Given the description of an element on the screen output the (x, y) to click on. 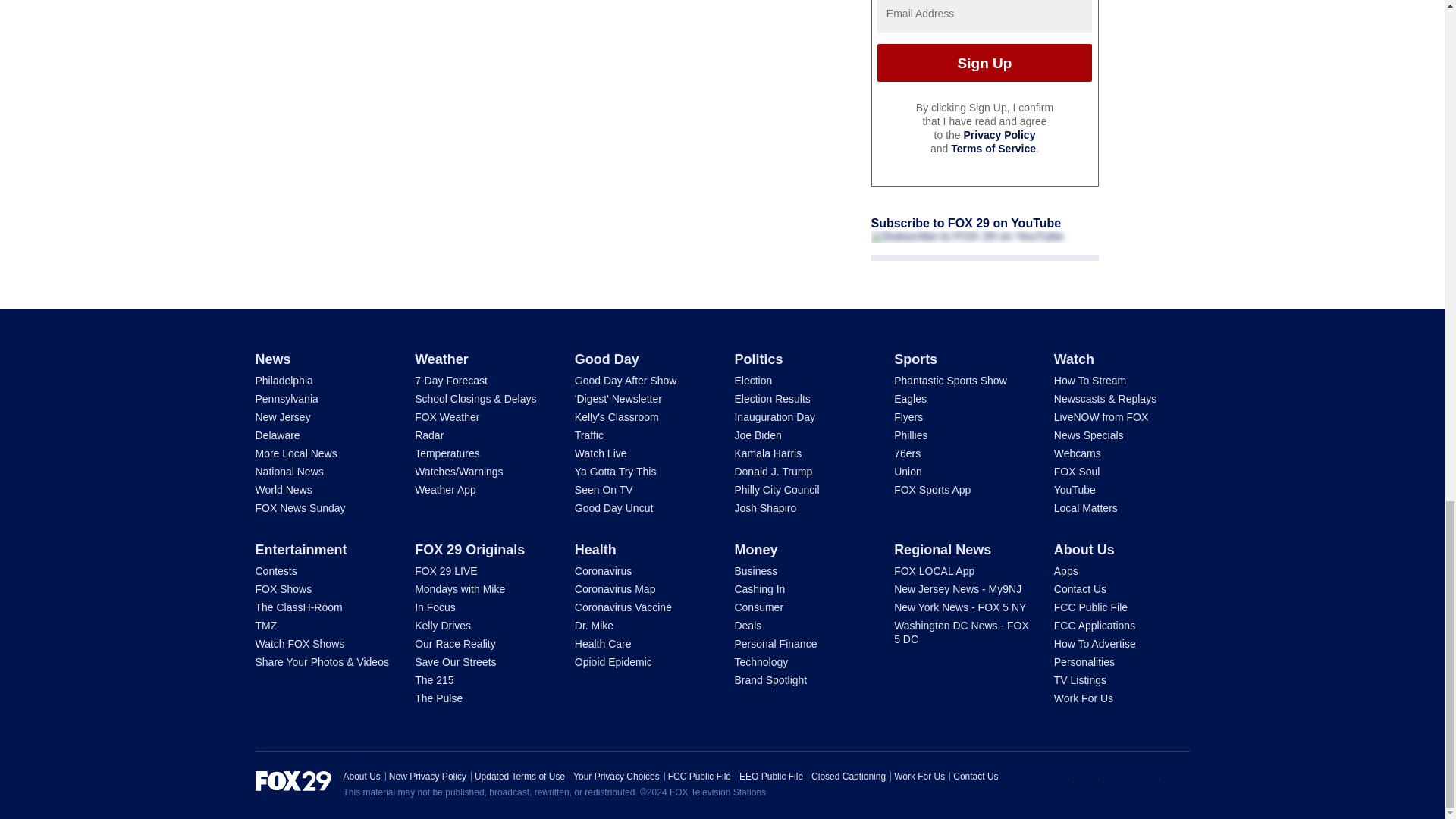
Sign Up (984, 62)
